Given the description of an element on the screen output the (x, y) to click on. 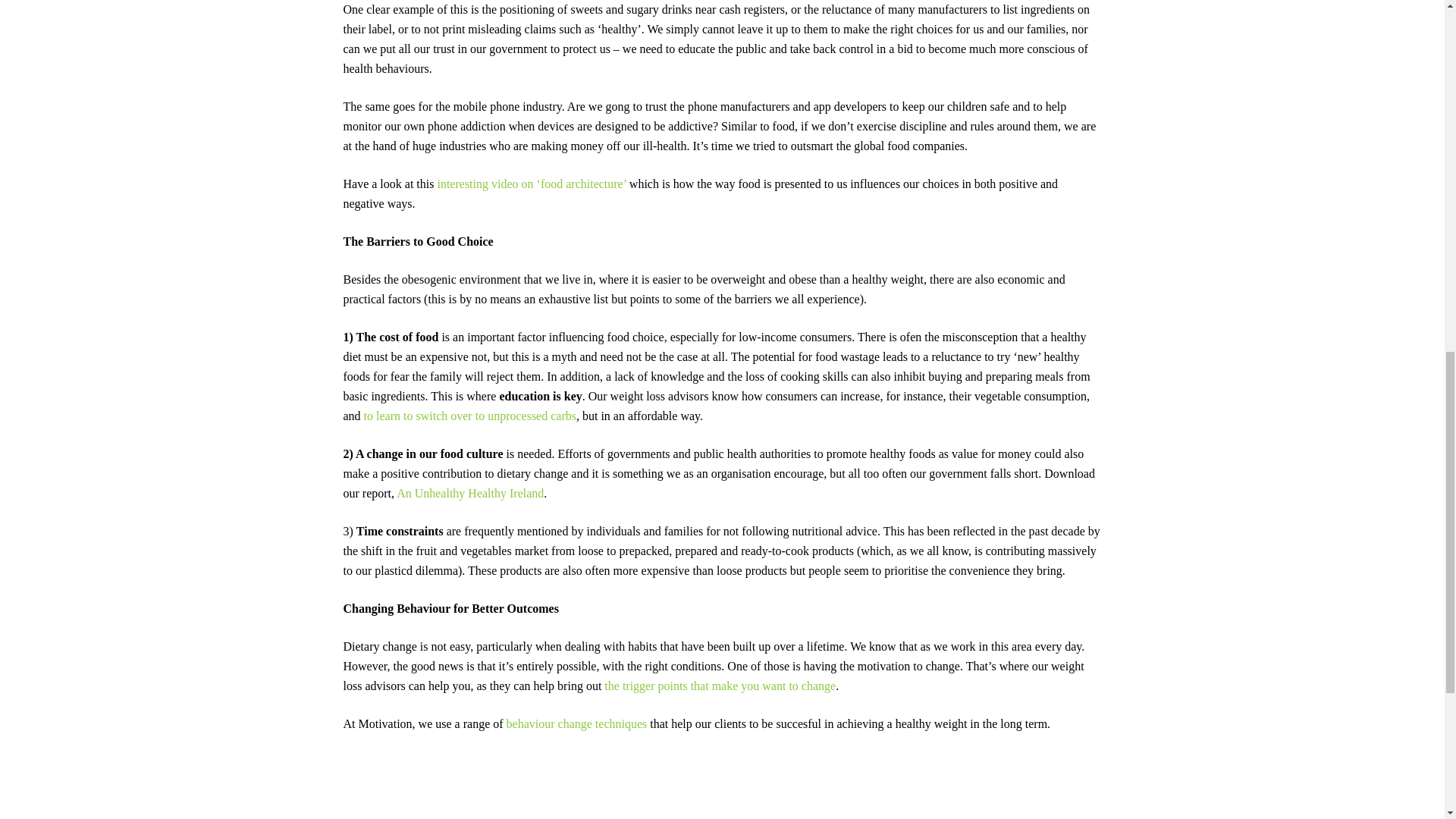
to learn to switch over to unprocessed carbs (470, 415)
An Unhealthy Healthy Ireland (469, 492)
the trigger points that make you want to change (719, 685)
behaviour change techniques (576, 723)
